Given the description of an element on the screen output the (x, y) to click on. 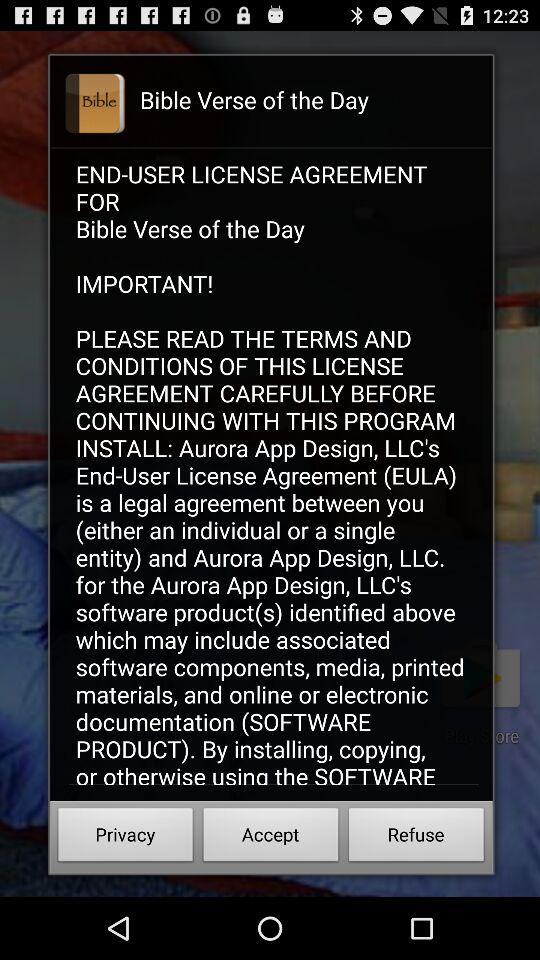
turn off item next to refuse (270, 837)
